Given the description of an element on the screen output the (x, y) to click on. 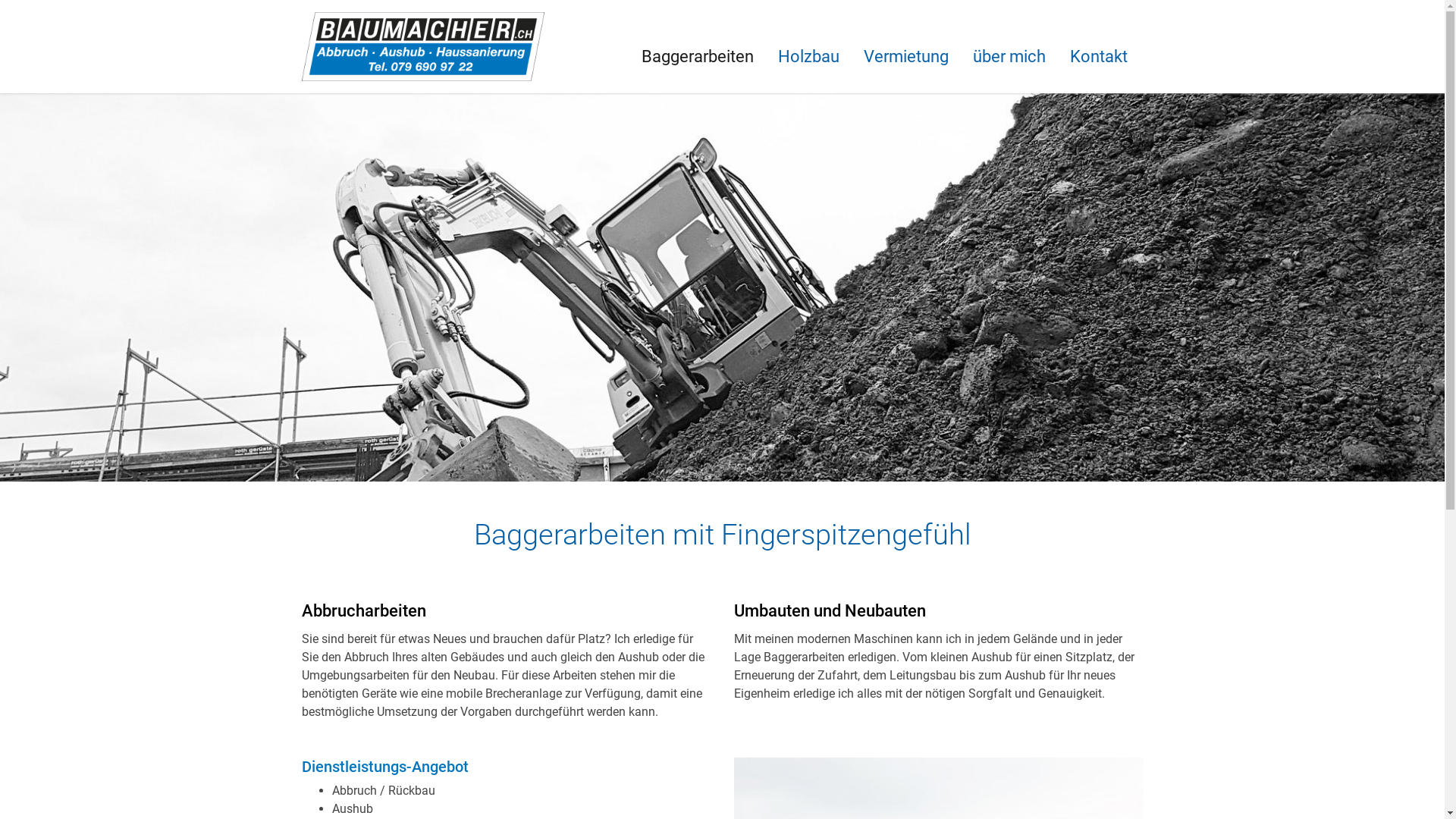
Vermietung Element type: text (905, 56)
Holzbau Element type: text (808, 56)
Kontakt Element type: text (1098, 56)
Baggerarbeiten Element type: text (697, 56)
